Given the description of an element on the screen output the (x, y) to click on. 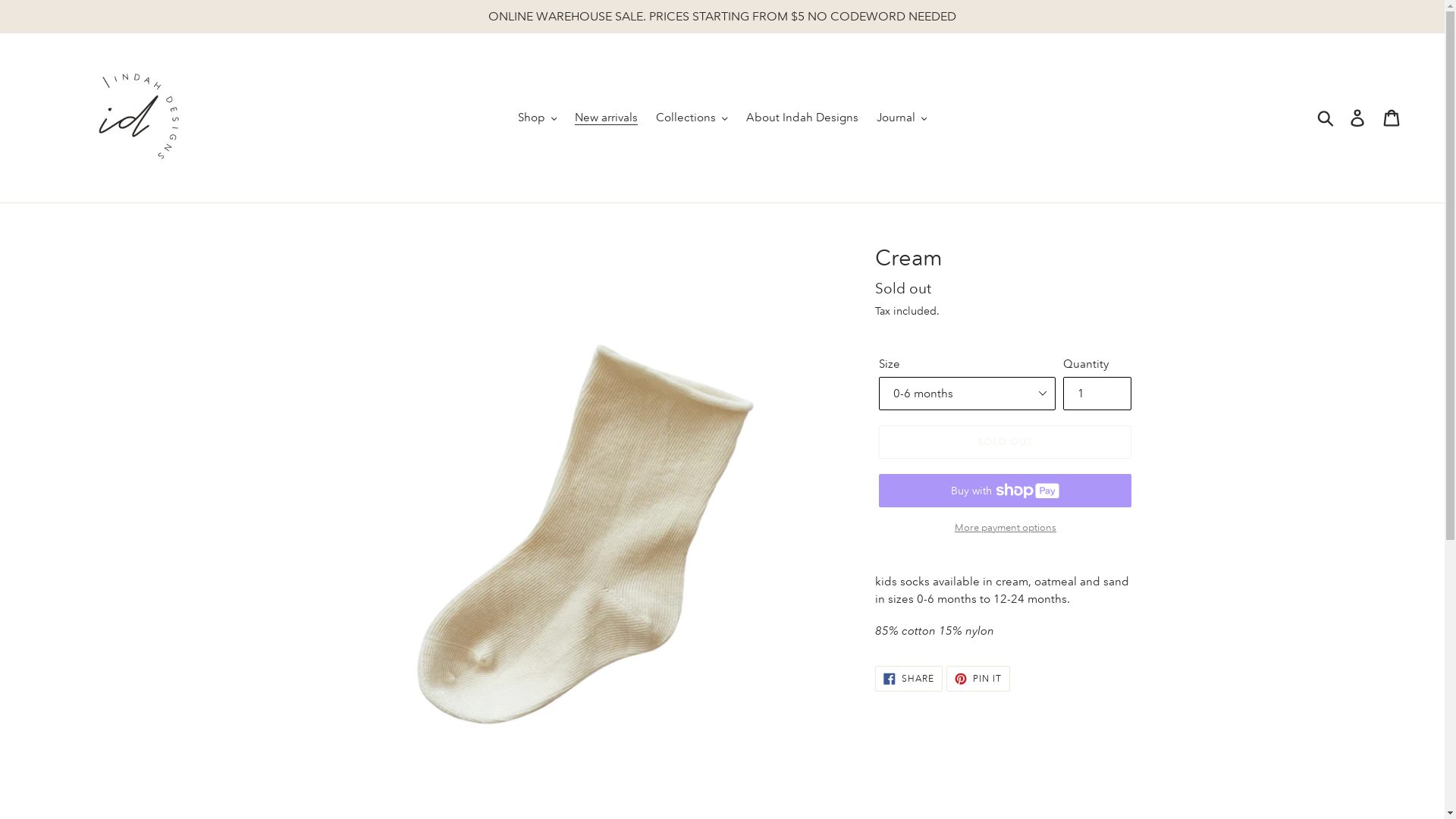
Log in Element type: text (1358, 117)
Cart Element type: text (1392, 117)
About Indah Designs Element type: text (802, 117)
More payment options Element type: text (1004, 527)
PIN IT
PIN ON PINTEREST Element type: text (978, 678)
Submit Element type: text (1326, 117)
New arrivals Element type: text (606, 117)
SOLD OUT Element type: text (1004, 441)
SHARE
SHARE ON FACEBOOK Element type: text (908, 678)
